Given the description of an element on the screen output the (x, y) to click on. 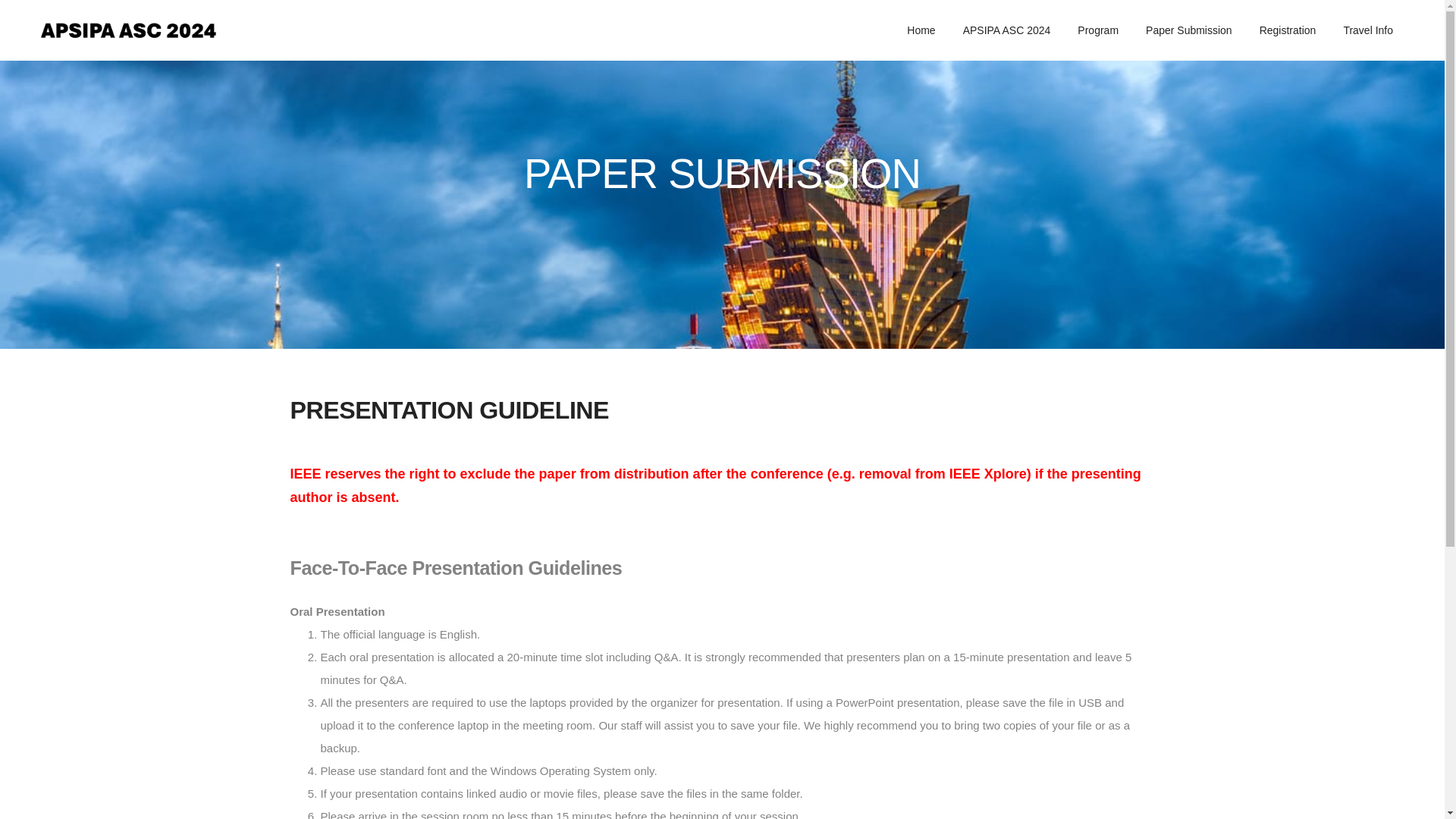
Registration (1287, 30)
APSIPA ASC 2024 (1006, 30)
Paper Submission (1188, 30)
